Given the description of an element on the screen output the (x, y) to click on. 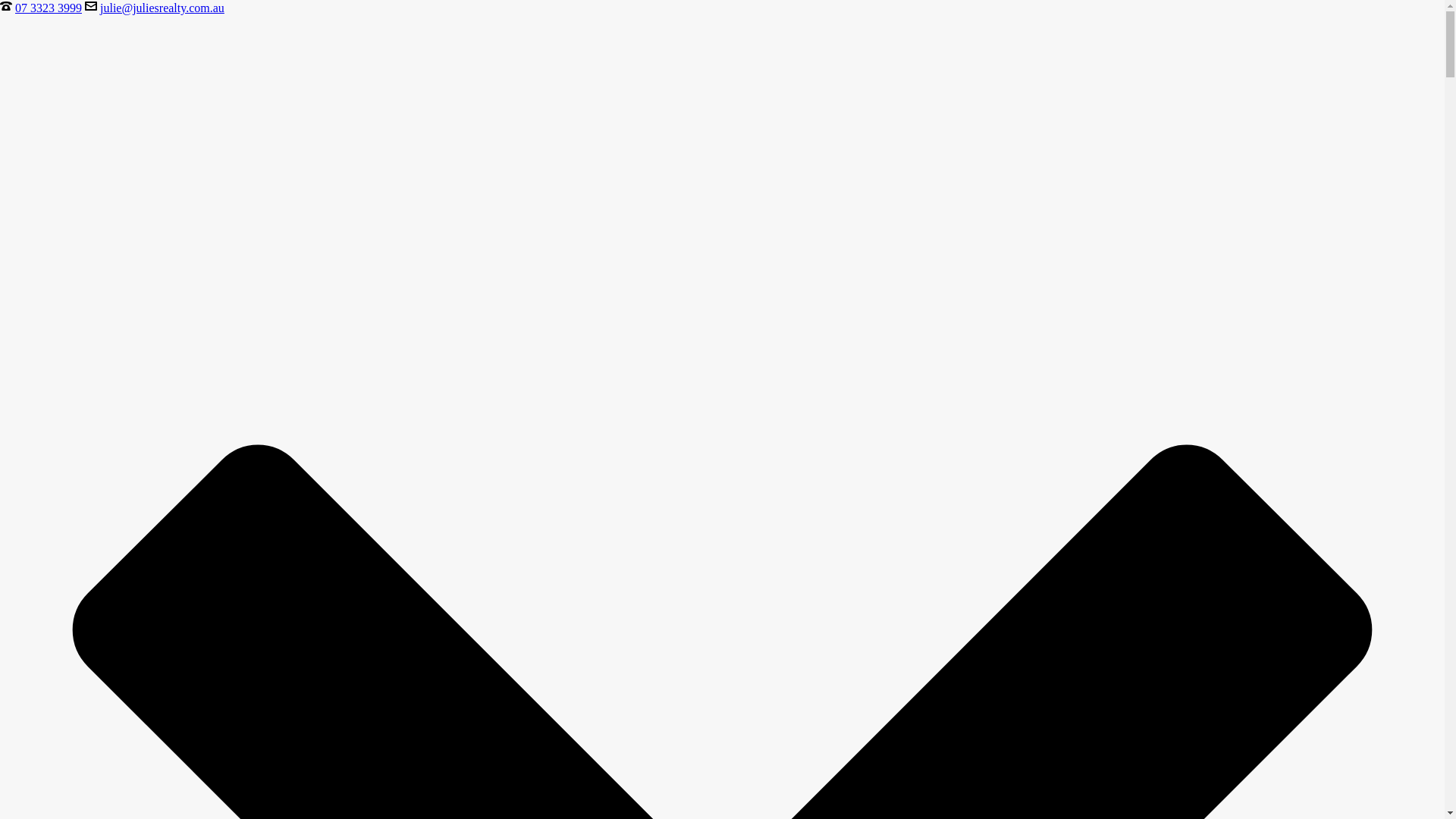
07 3323 3999 Element type: text (48, 7)
julie@juliesrealty.com.au Element type: text (162, 7)
